Given the description of an element on the screen output the (x, y) to click on. 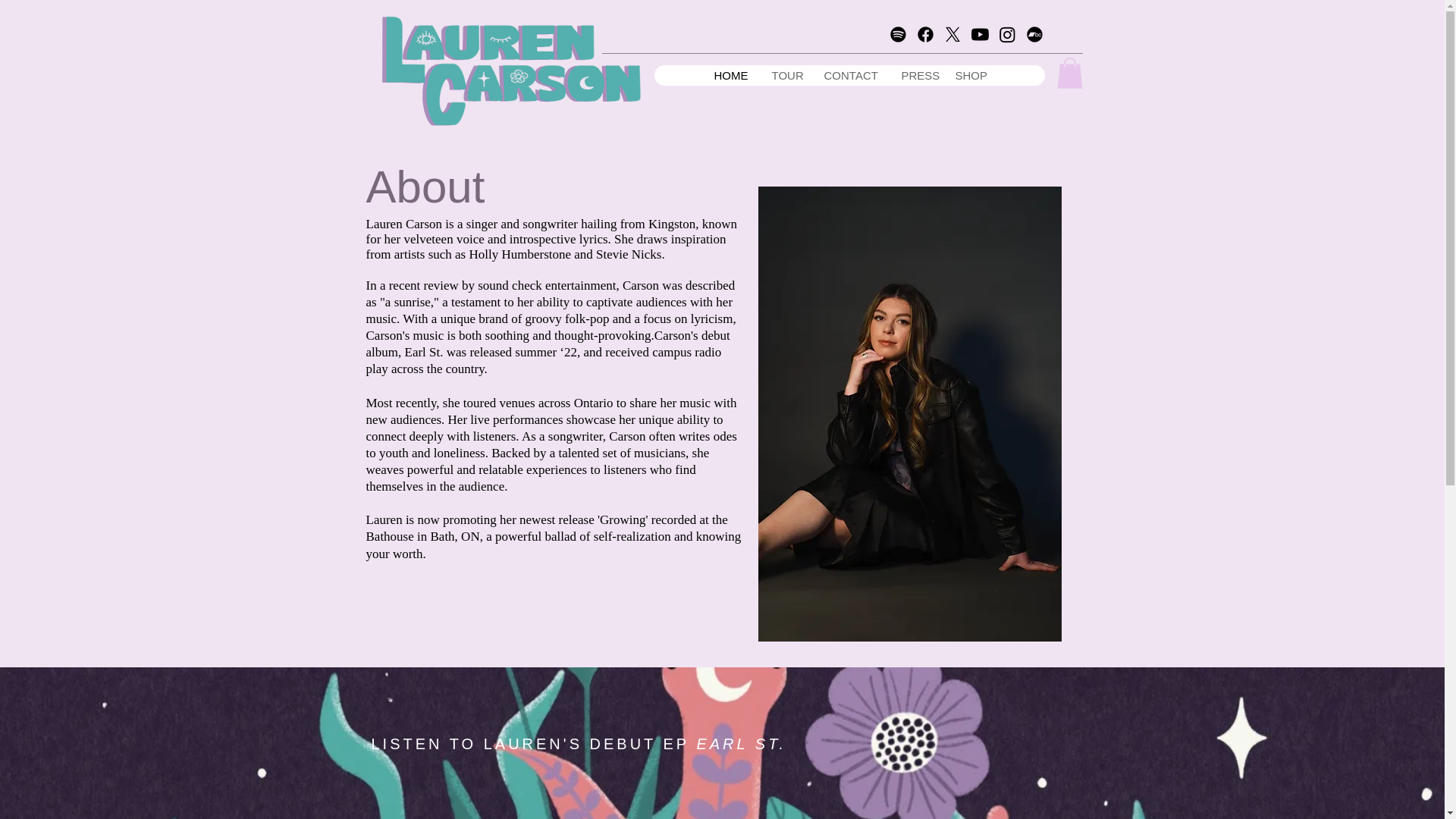
PRESS (915, 75)
CONTACT (849, 75)
HOME (730, 75)
TOUR (786, 75)
SHOP (970, 75)
